Given the description of an element on the screen output the (x, y) to click on. 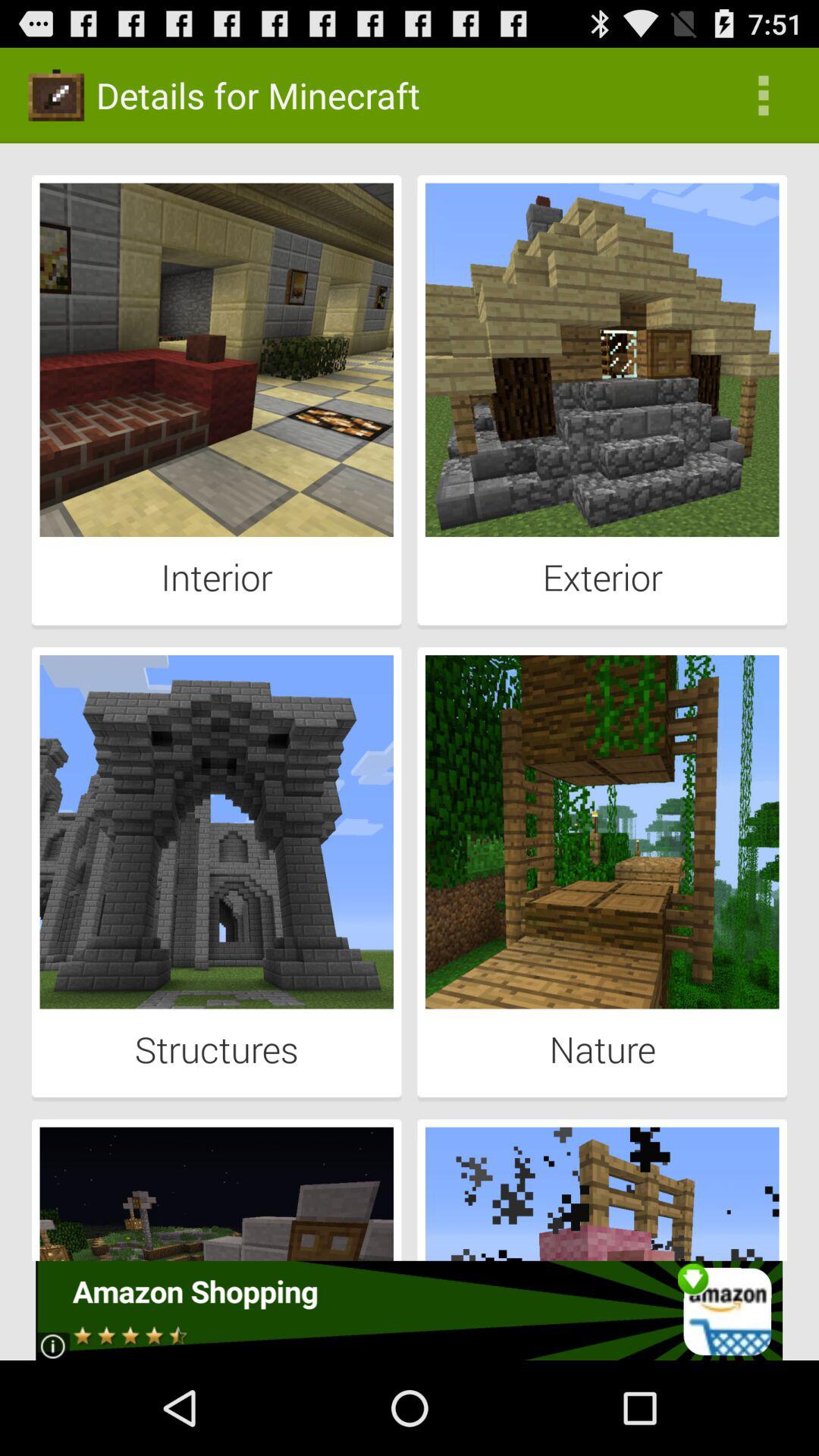
advertisement (408, 1310)
